Given the description of an element on the screen output the (x, y) to click on. 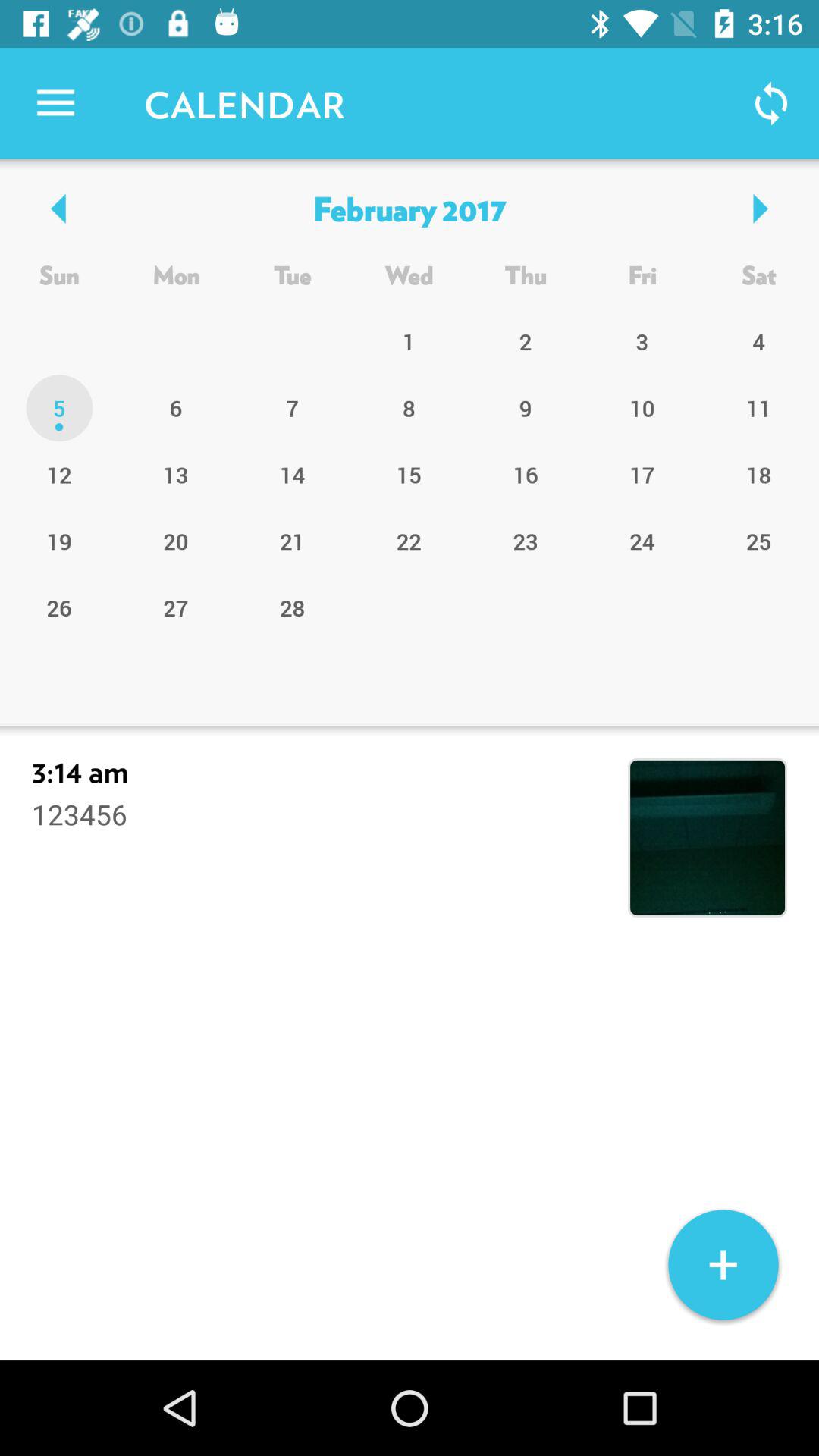
choose icon below the 1 item (525, 407)
